Given the description of an element on the screen output the (x, y) to click on. 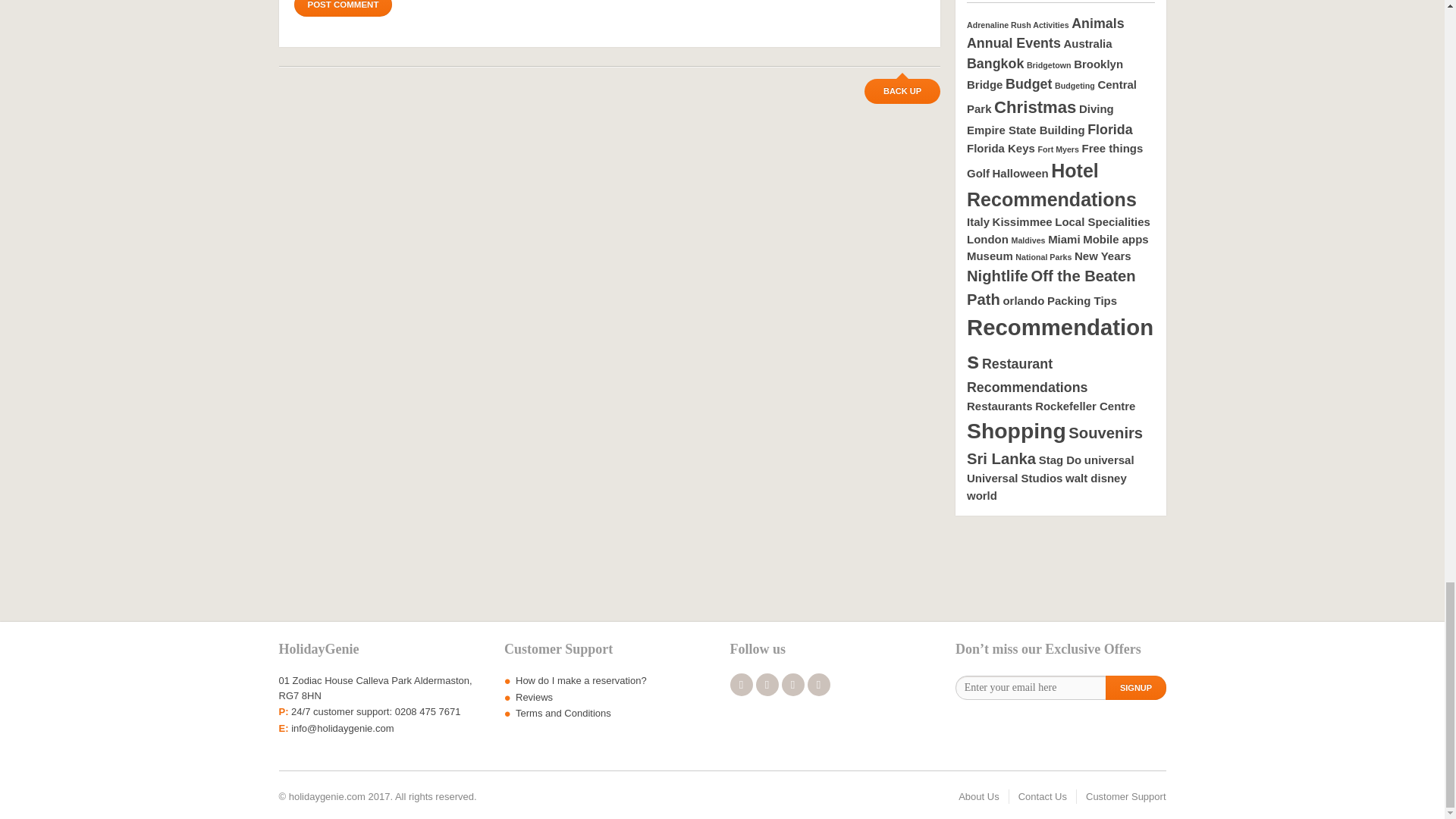
Post Comment (343, 8)
Back up (902, 91)
3 topics (994, 63)
2 topics (1087, 42)
3 topics (1097, 23)
3 topics (1013, 43)
1 topic (1017, 24)
2 topics (1044, 73)
5 topics (1034, 107)
3 topics (1028, 83)
Signup (1135, 687)
2 topics (1051, 96)
BACK UP (902, 91)
1 topic (1074, 85)
BACK UP (902, 91)
